Given the description of an element on the screen output the (x, y) to click on. 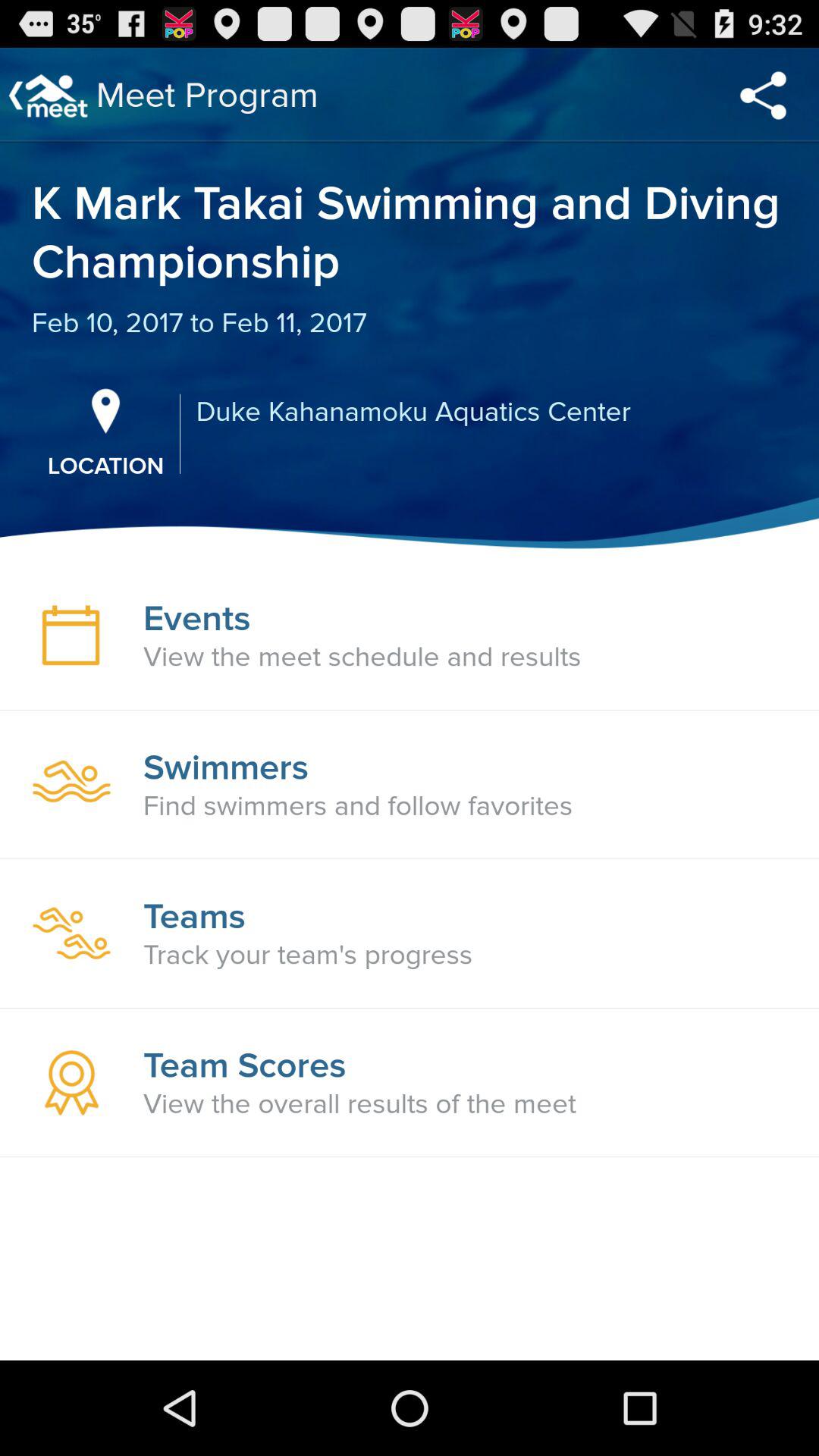
choose the item above the k mark takai icon (763, 95)
